Given the description of an element on the screen output the (x, y) to click on. 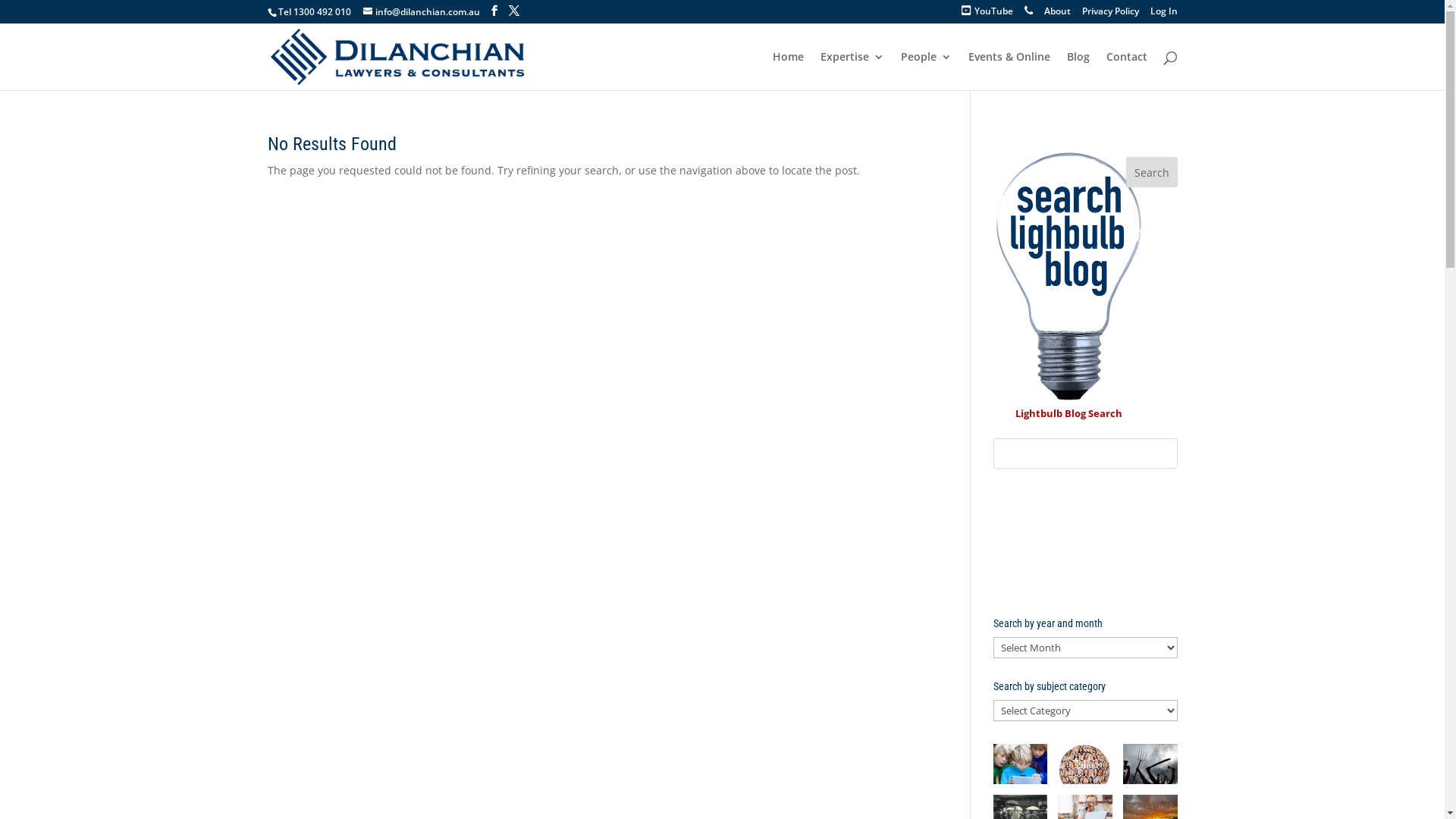
Search Element type: text (1151, 171)
About Element type: text (1056, 14)
Blog Element type: text (1077, 70)
Events & Online Element type: text (1008, 70)
Privacy Policy Element type: text (1109, 14)
3 PRIORITIES for dispute resolution and litigation Element type: hover (1085, 543)
Call Element type: text (1027, 14)
YouTube Element type: text (987, 14)
Log In Element type: text (1162, 14)
People Element type: text (925, 70)
info@dilanchian.com.au Element type: text (420, 11)
Contact Element type: text (1125, 70)
Expertise Element type: text (852, 70)
Home Element type: text (787, 70)
